Given the description of an element on the screen output the (x, y) to click on. 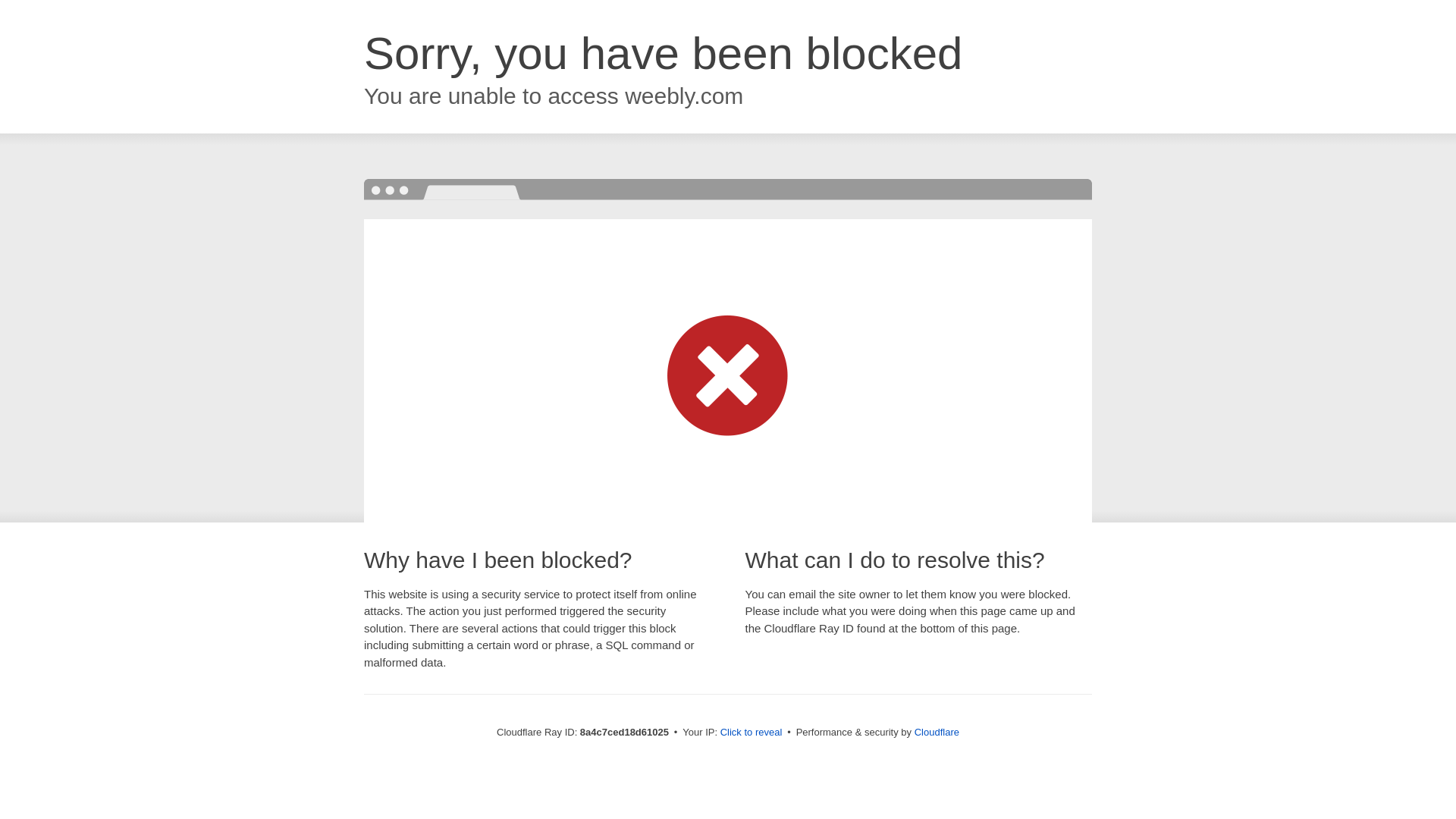
Click to reveal (751, 732)
Cloudflare (936, 731)
